Given the description of an element on the screen output the (x, y) to click on. 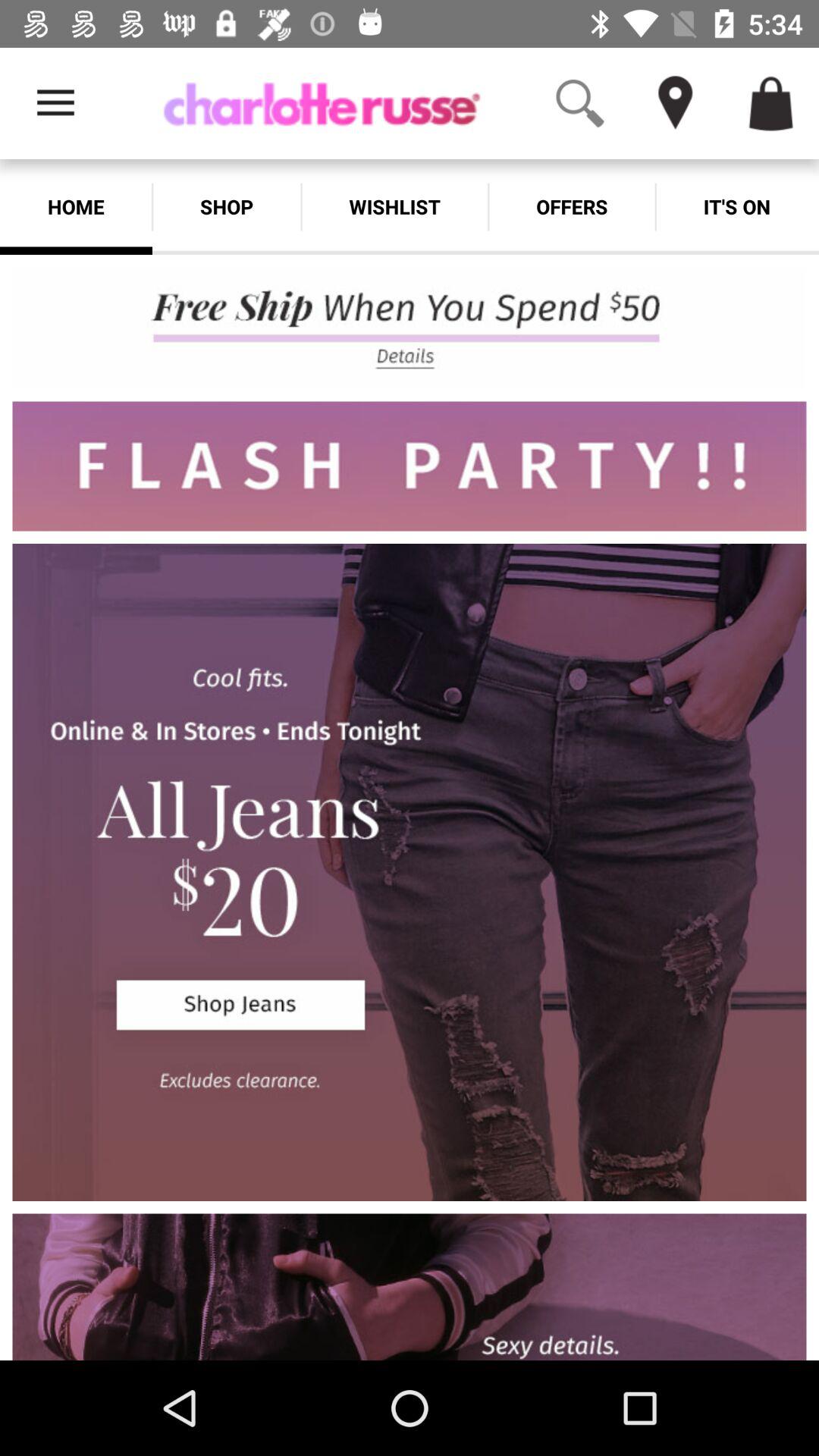
open the icon next to wishlist icon (571, 206)
